Given the description of an element on the screen output the (x, y) to click on. 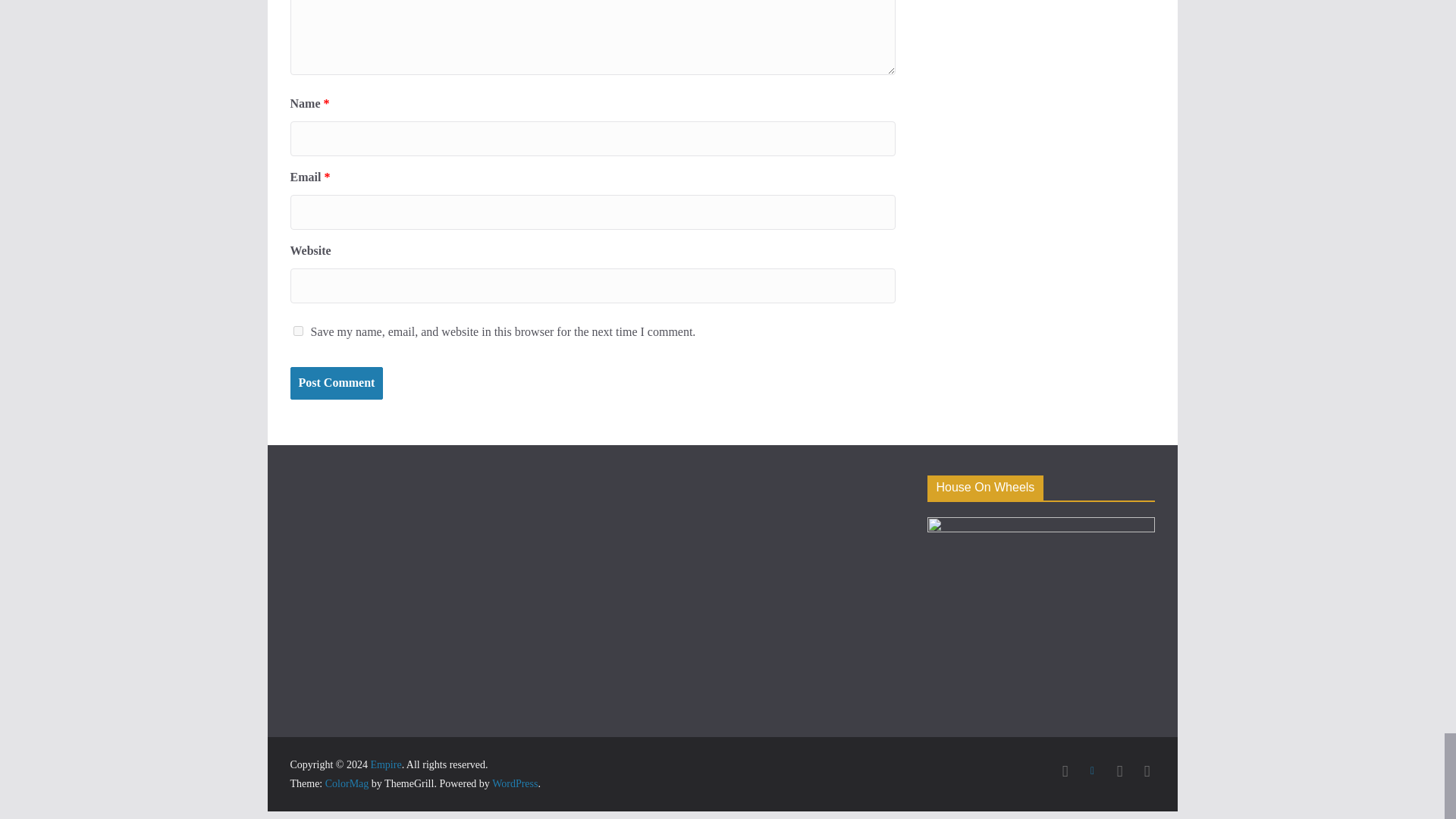
yes (297, 330)
Post Comment (335, 382)
Post Comment (335, 382)
Empire (385, 764)
